Given the description of an element on the screen output the (x, y) to click on. 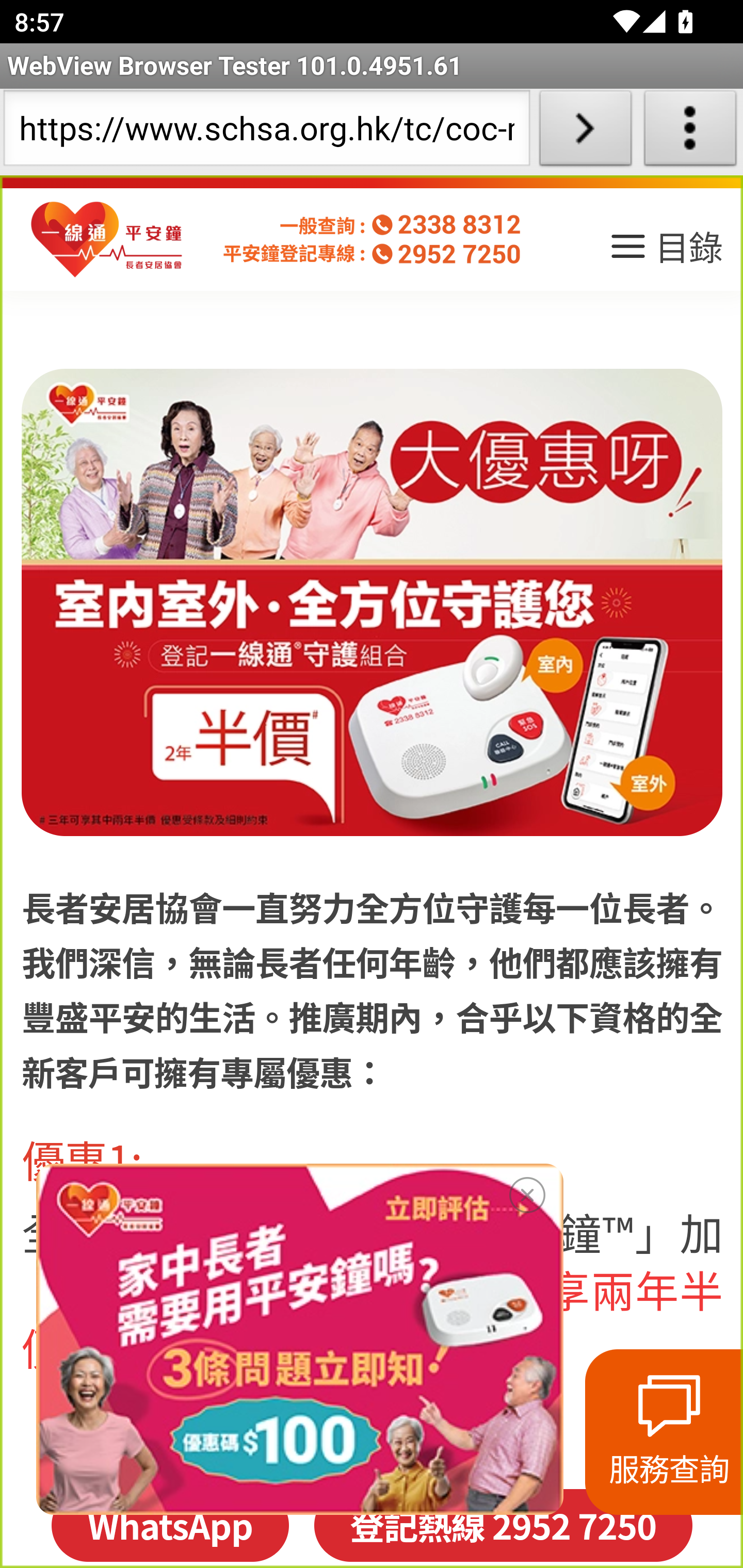
Load URL (585, 132)
About WebView (690, 132)
homepage (107, 240)
目錄 (665, 252)
Dec Coupon Code Allsize Popup 300x200 Yescta (299, 1338)
site.close (526, 1191)
服務查詢 (664, 1432)
